Given the description of an element on the screen output the (x, y) to click on. 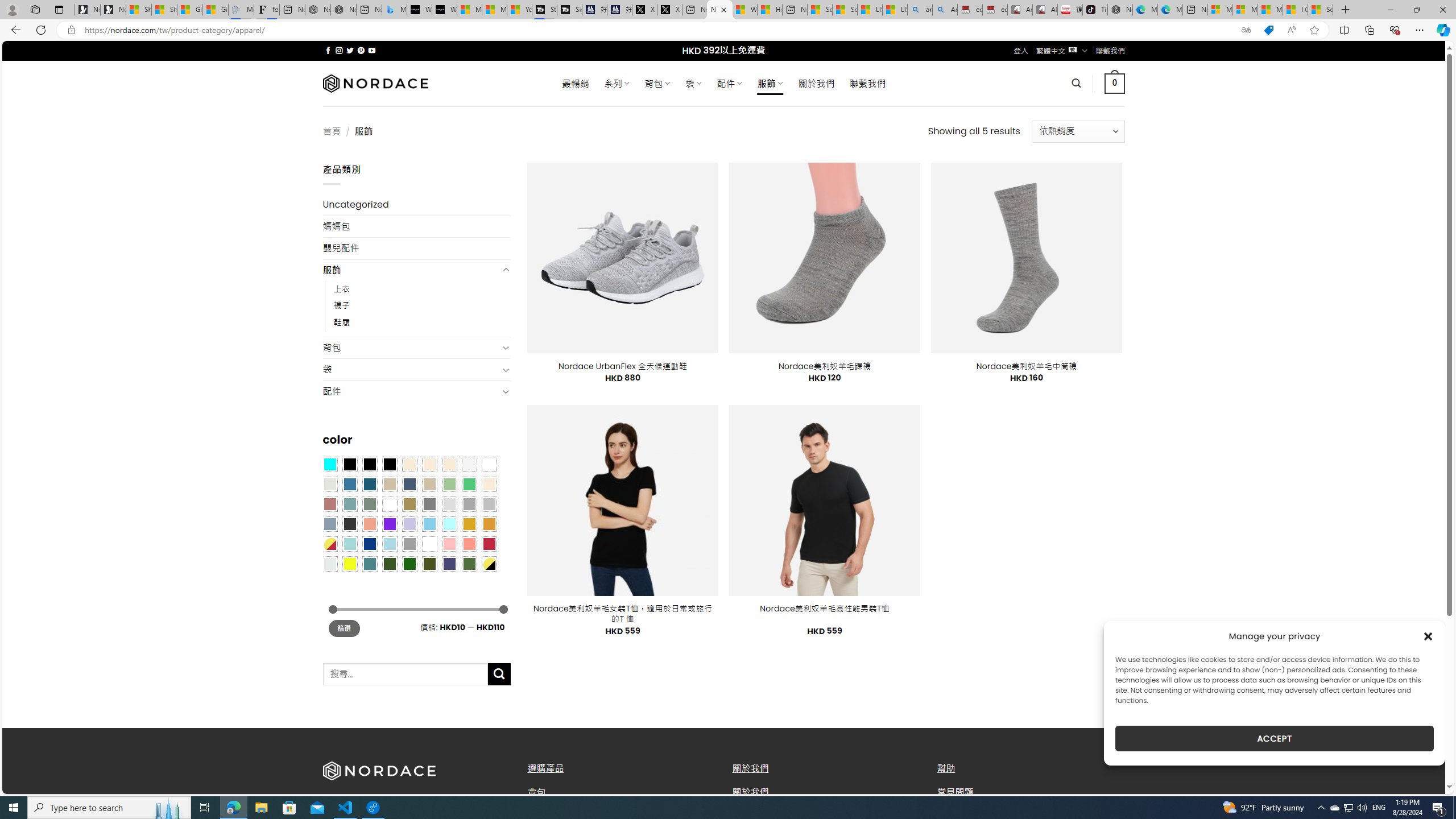
Go to top (1421, 777)
